Given the description of an element on the screen output the (x, y) to click on. 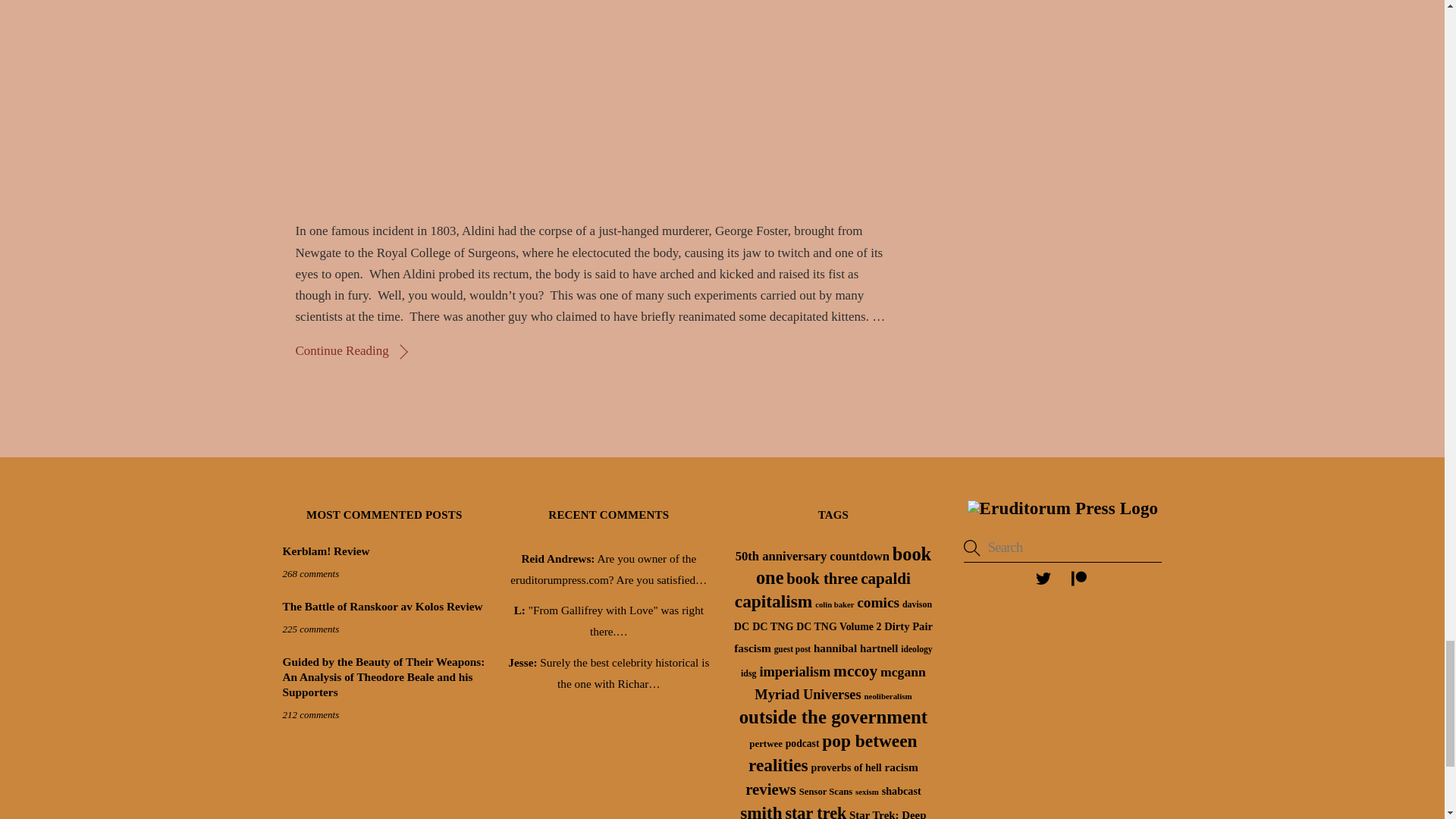
Search (1062, 547)
Eruditorum Press Logo (1063, 508)
Eruditorum Press (1063, 507)
